Given the description of an element on the screen output the (x, y) to click on. 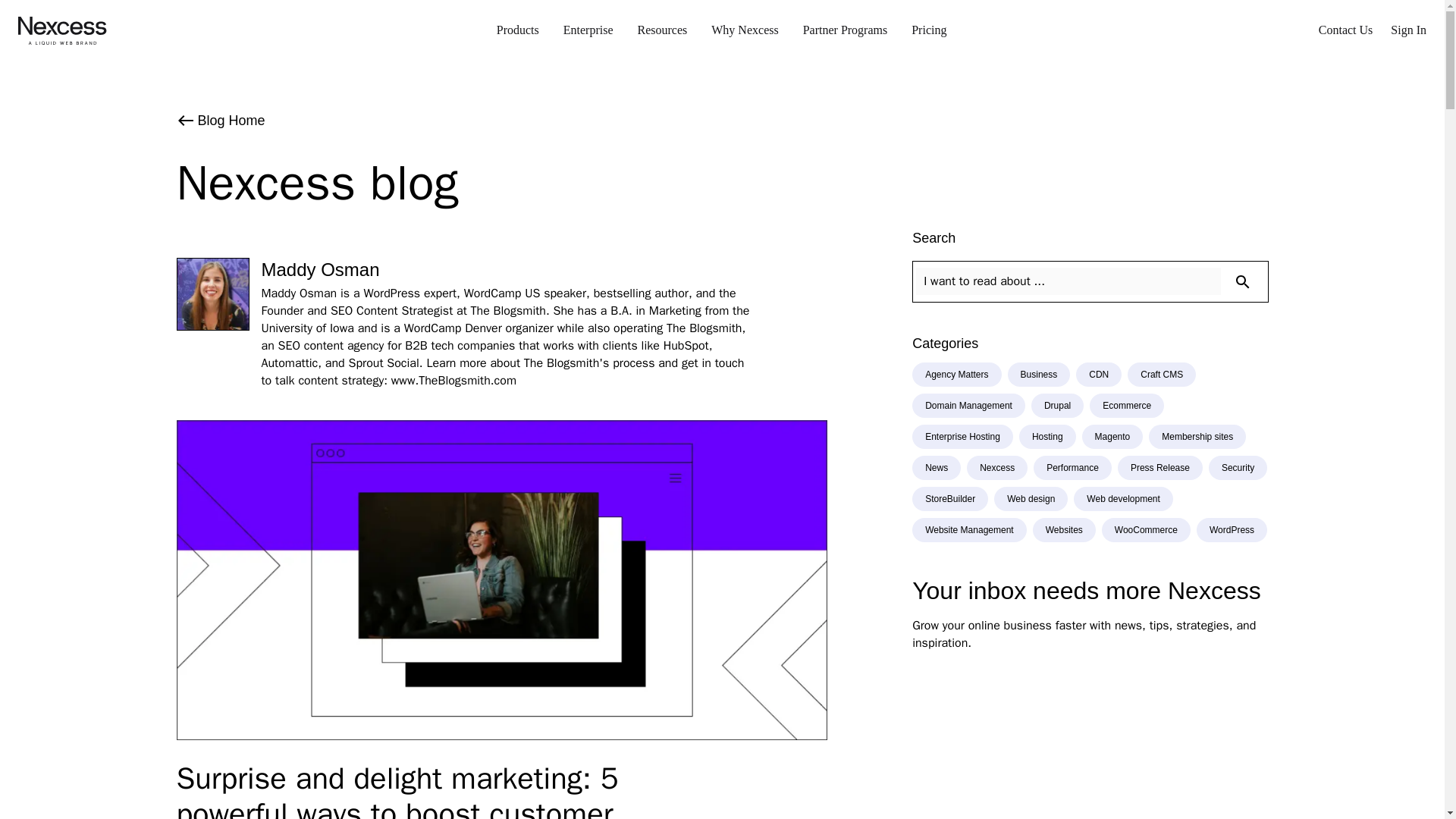
Maddy Osman (507, 269)
Why Nexcess (744, 30)
Partner Programs (844, 30)
Blog Home (722, 120)
Enterprise (588, 30)
Resources (661, 30)
